Given the description of an element on the screen output the (x, y) to click on. 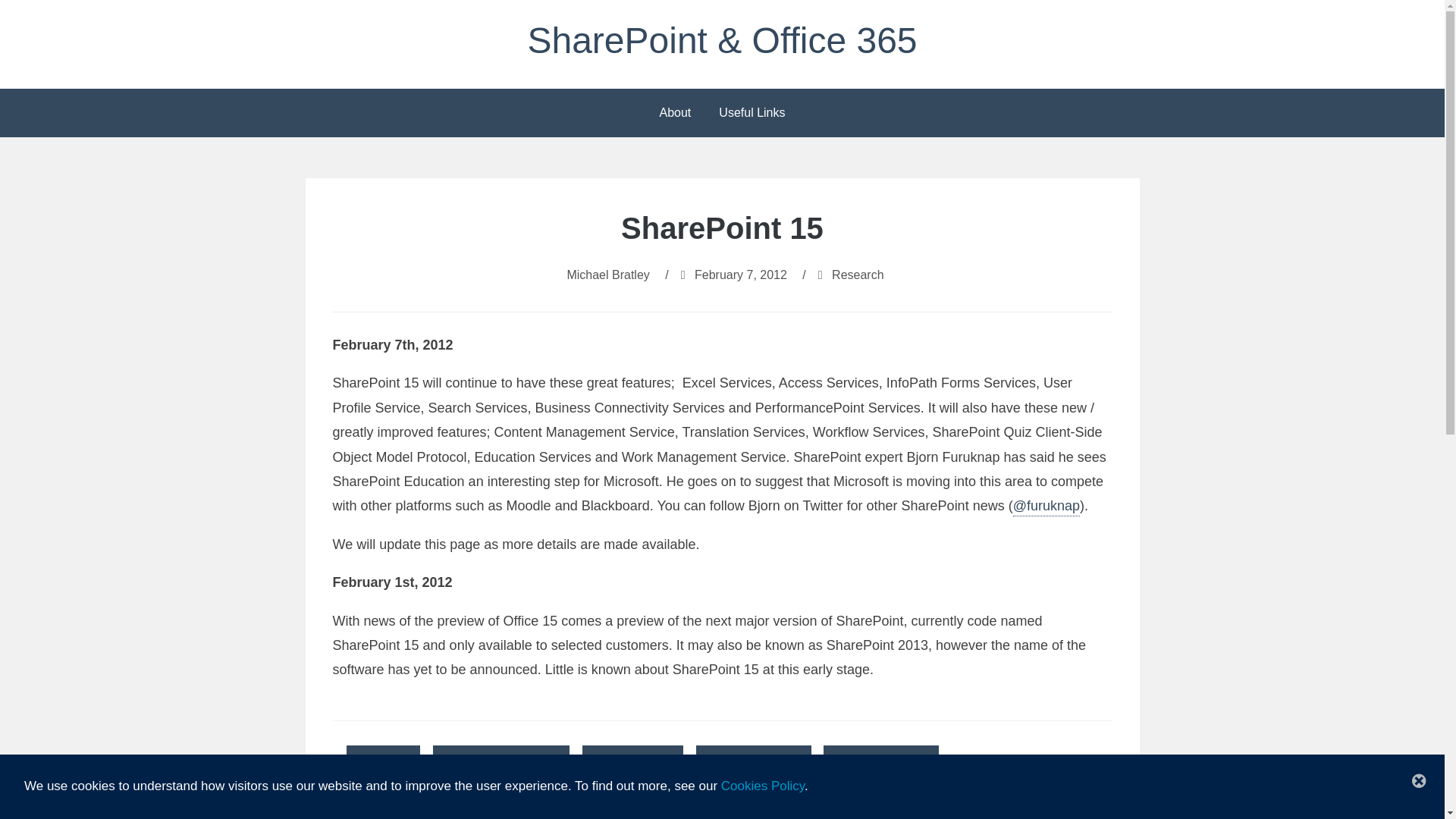
SharePoint 2013 (880, 760)
About (675, 112)
Cookies Policy (762, 785)
Research (857, 274)
SharePoint 15 (632, 760)
Microsoft (383, 760)
Michael Bratley (607, 274)
Microsoft SharePoint (501, 760)
SharePoint 2012 (752, 760)
February 7, 2012 (740, 274)
Useful Links (751, 112)
